Given the description of an element on the screen output the (x, y) to click on. 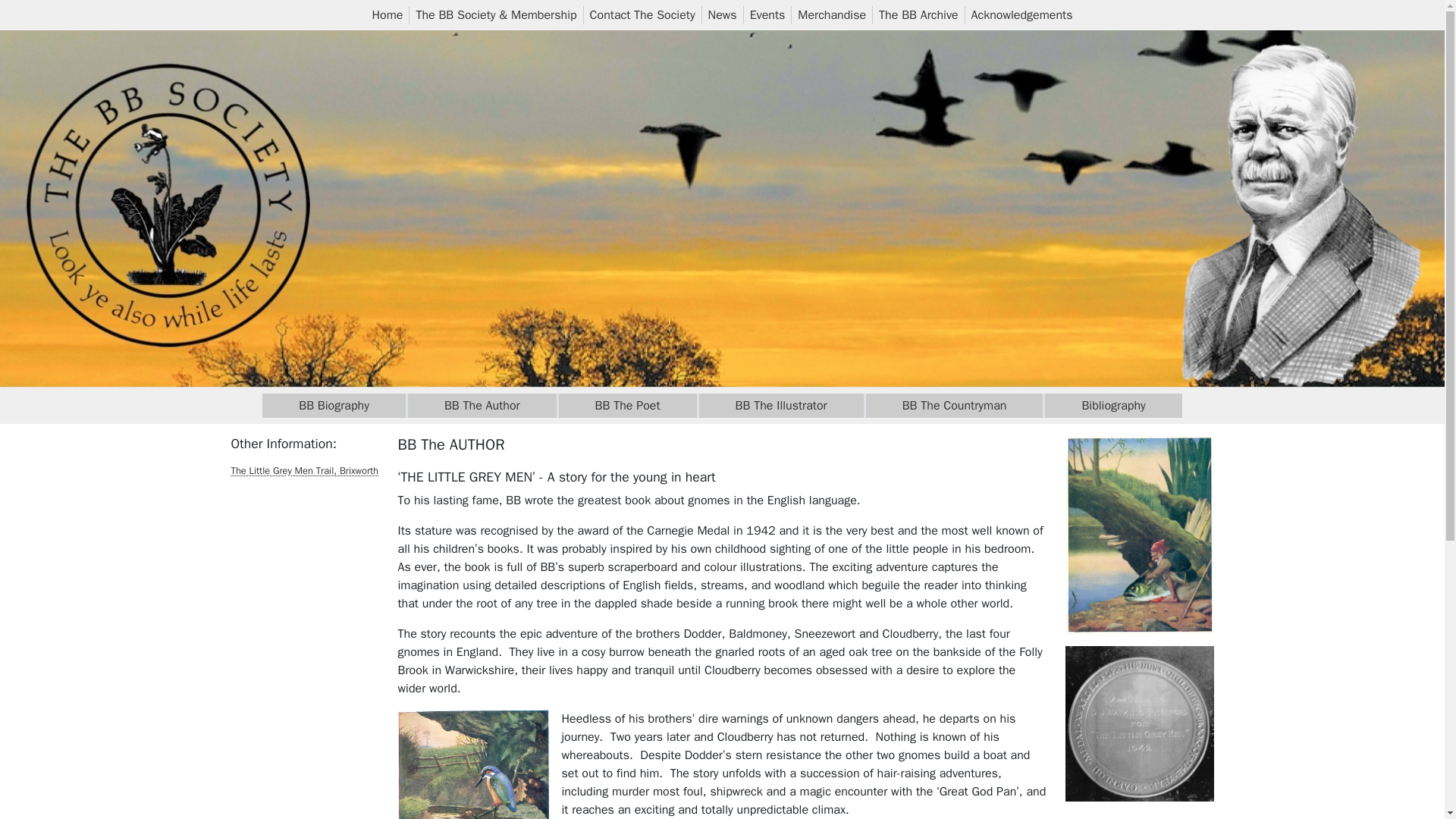
BB The Author (481, 405)
The Little Grey Men Trail, Brixworth (304, 470)
Events (768, 14)
Bibliography (1112, 405)
Merchandise (832, 14)
The BB Archive (917, 14)
BB Biography (334, 405)
BB The Illustrator (780, 405)
Contact The Society (642, 14)
BB The Poet (628, 405)
BB The Countryman (954, 405)
Acknowledgements (1021, 14)
News (721, 14)
Home (387, 14)
